Given the description of an element on the screen output the (x, y) to click on. 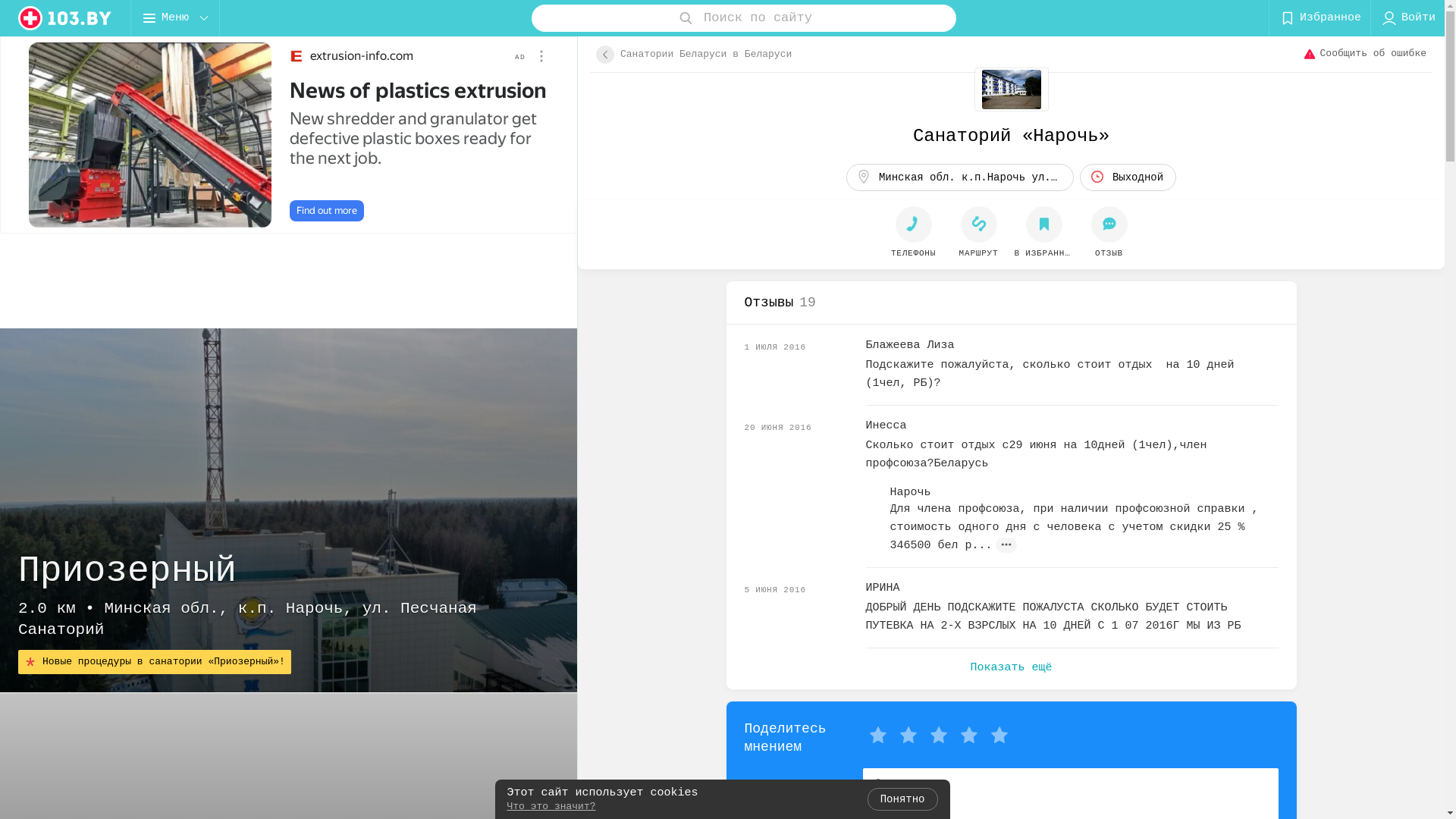
logo Element type: hover (65, 18)
